Given the description of an element on the screen output the (x, y) to click on. 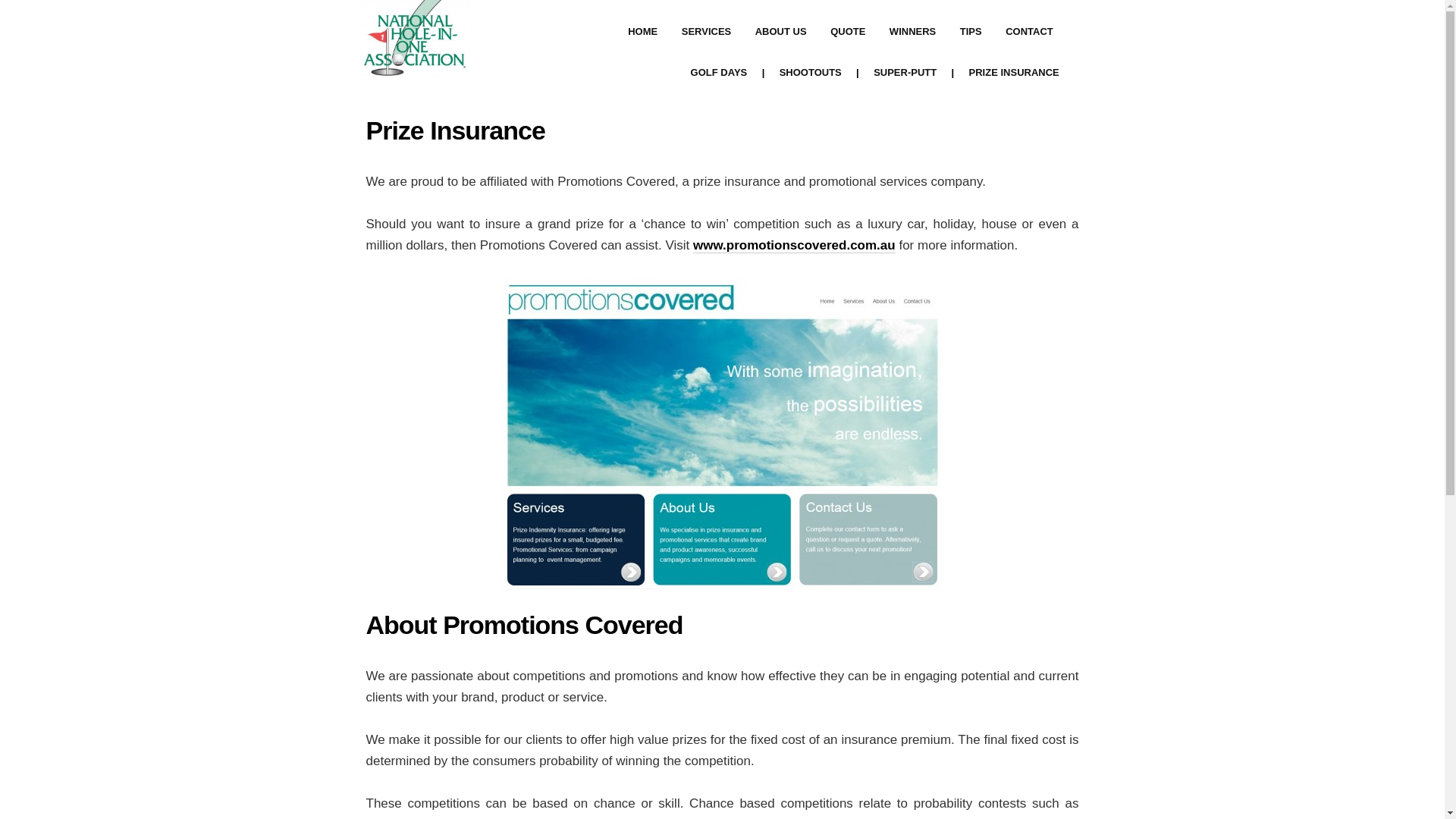
Promotions Covered Prize Insurance Website Element type: hover (721, 433)
WINNERS Element type: text (912, 31)
National Hole in One Association Element type: hover (414, 66)
www.promotionscovered.com.au Element type: text (794, 245)
ABOUT US Element type: text (780, 31)
HOME Element type: text (642, 31)
SERVICES Element type: text (706, 31)
GOLF DAYS Element type: text (718, 72)
TIPS Element type: text (970, 31)
PRIZE INSURANCE Element type: text (1014, 72)
QUOTE Element type: text (847, 31)
SHOOTOUTS Element type: text (810, 72)
CONTACT Element type: text (1028, 31)
SUPER-PUTT Element type: text (904, 72)
